Given the description of an element on the screen output the (x, y) to click on. 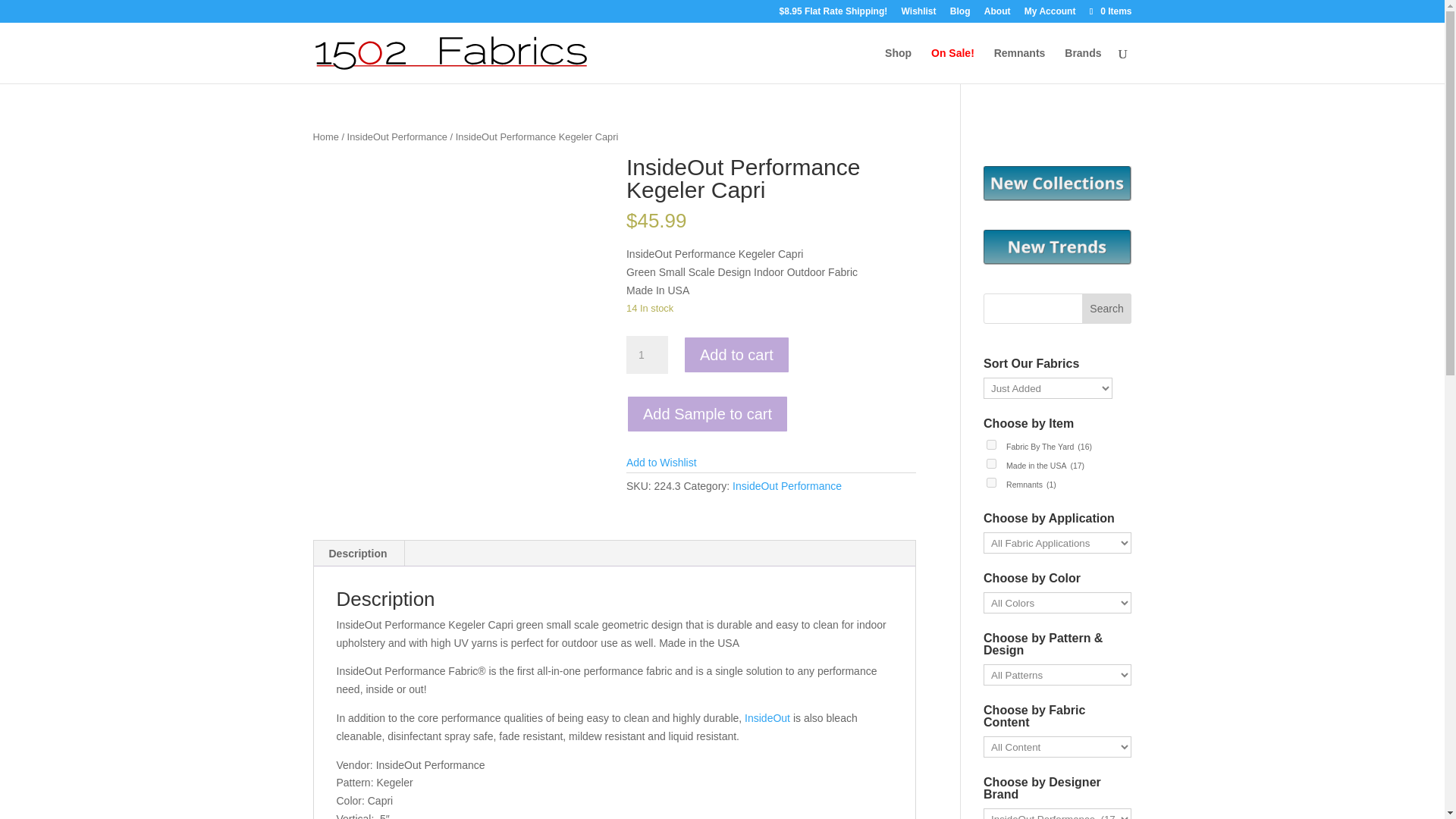
Remnants (1019, 65)
remnants (991, 482)
0 Items (1108, 10)
Blog (960, 14)
Brands (1082, 65)
Wishlist (918, 14)
About (997, 14)
InsideOut Performance (396, 136)
1 (647, 354)
InsideOut (767, 717)
Home (325, 136)
Add to cart (736, 354)
Search (1106, 308)
Add to Wishlist (661, 462)
My Account (1050, 14)
